Given the description of an element on the screen output the (x, y) to click on. 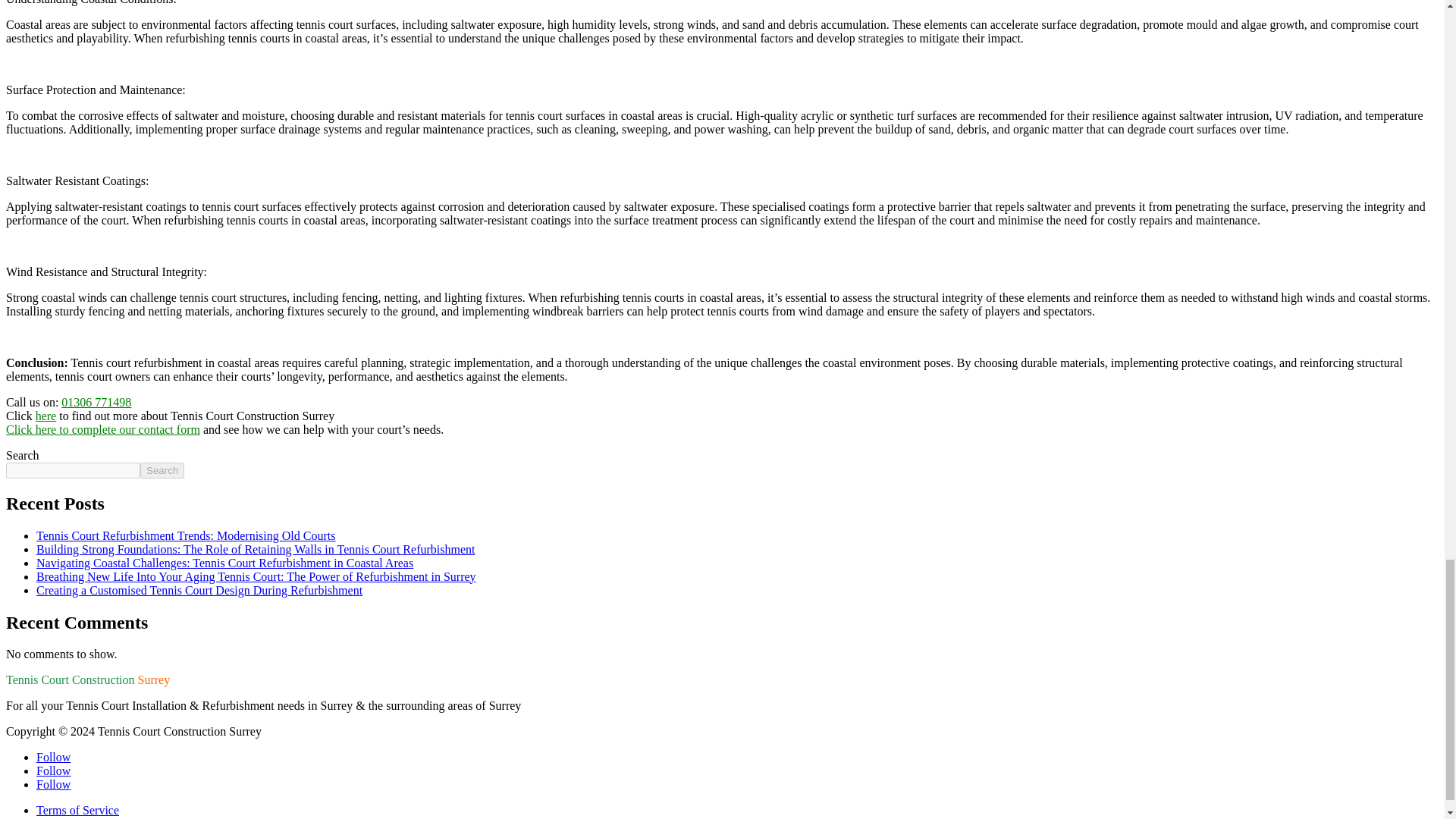
Follow on Youtube (52, 784)
Follow on X (52, 770)
Follow on Facebook (52, 757)
